Given the description of an element on the screen output the (x, y) to click on. 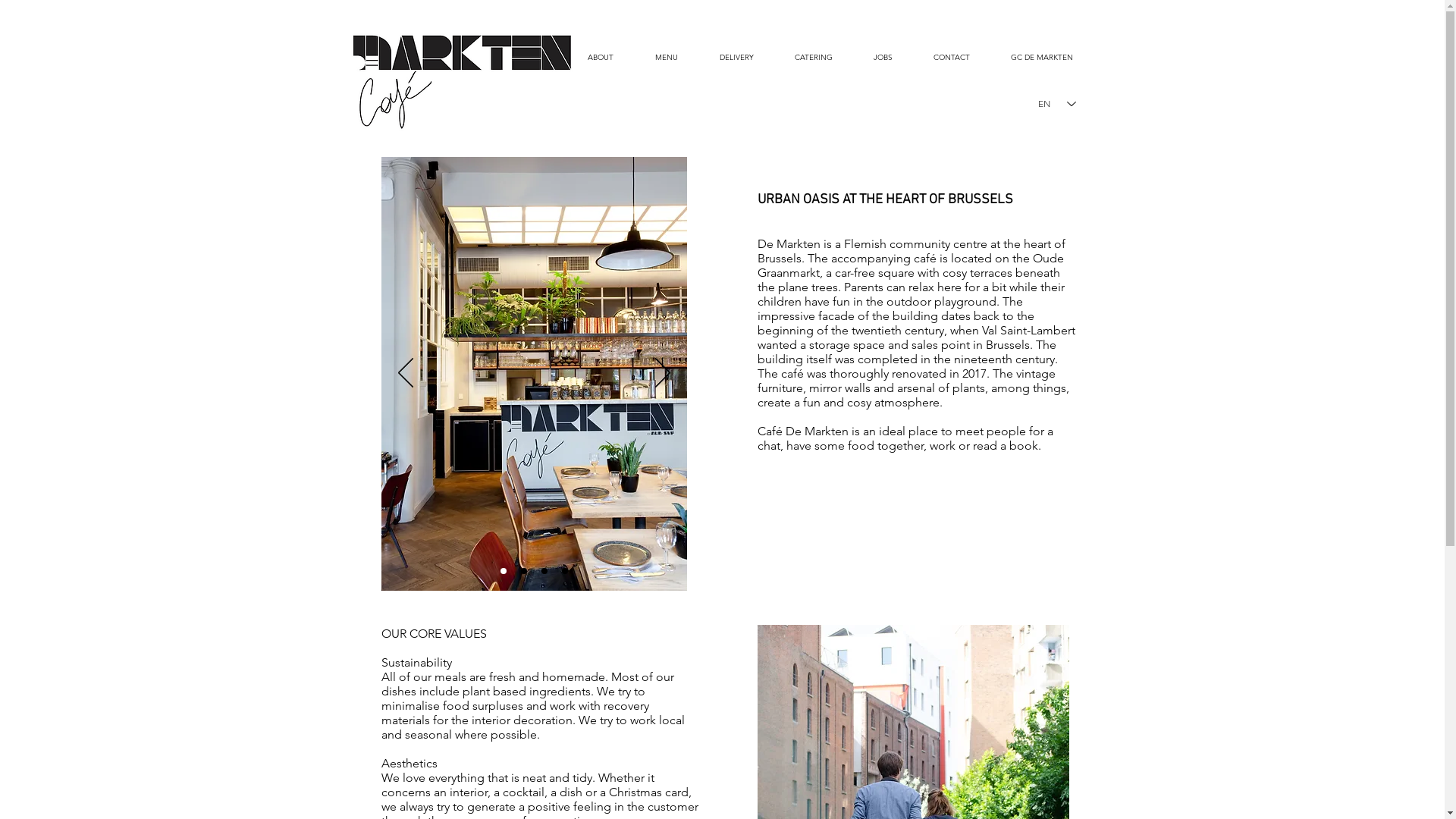
DELIVERY Element type: text (736, 56)
JOBS Element type: text (882, 56)
CATERING Element type: text (812, 56)
ABOUT Element type: text (600, 56)
MENU Element type: text (665, 56)
GC DE MARKTEN Element type: text (1041, 56)
CONTACT Element type: text (951, 56)
